Given the description of an element on the screen output the (x, y) to click on. 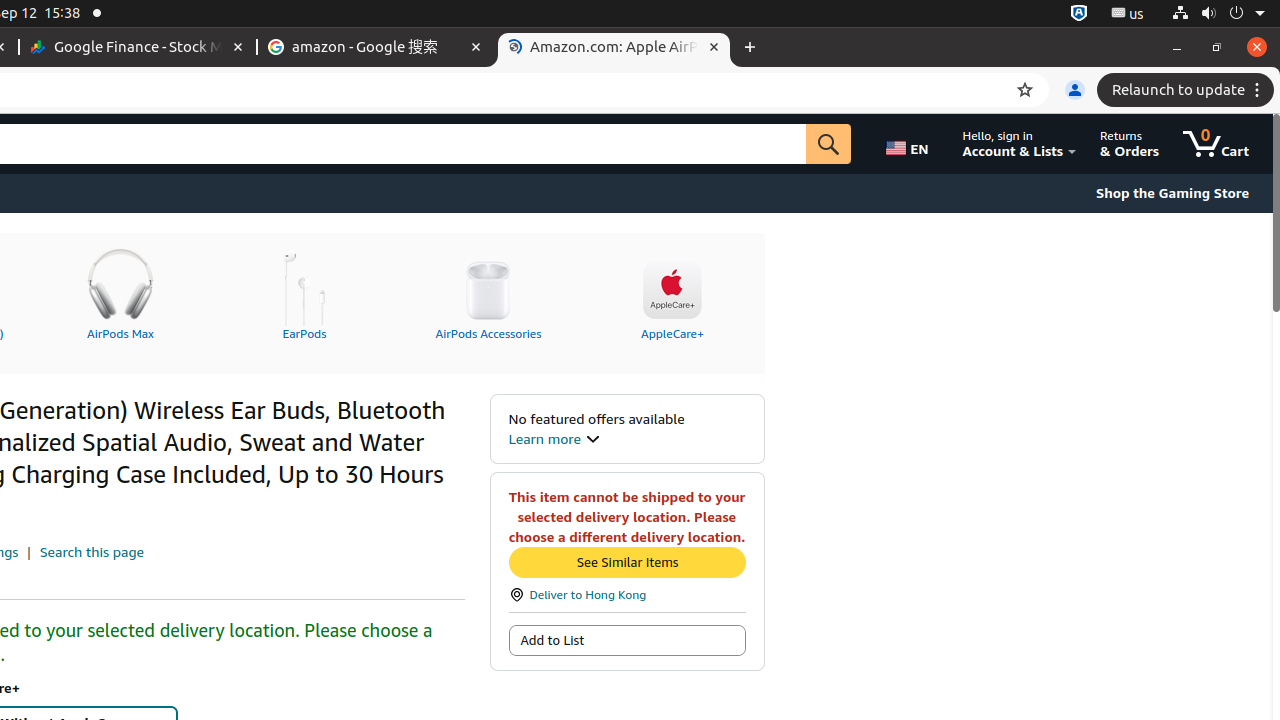
:1.21/StatusNotifierItem Element type: menu (1127, 13)
Returns & Orders Element type: link (1129, 144)
Add to List Element type: radio-button (627, 640)
Search this page Element type: link (91, 551)
Amazon.com: Apple AirPods (3rd Generation) Wireless Ear Buds, Bluetooth Headphones, Personalized Spatial Audio, Sweat and Water Resistant, Lightning Charging Case Included, Up to 30 Hours of Battery Life : Electronics Element type: page-tab (614, 47)
